Given the description of an element on the screen output the (x, y) to click on. 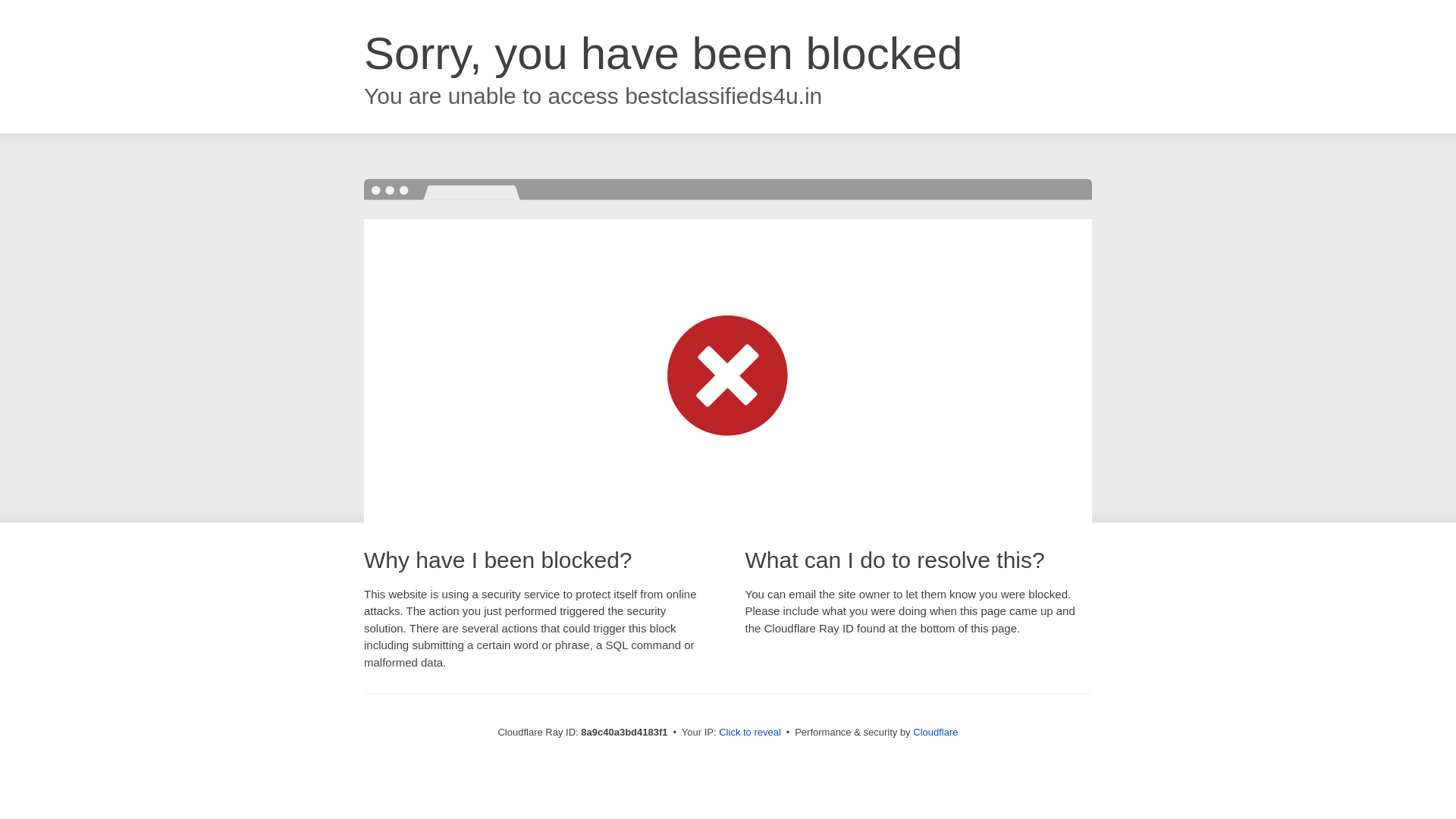
Cloudflare (935, 731)
Click to reveal (749, 732)
